Given the description of an element on the screen output the (x, y) to click on. 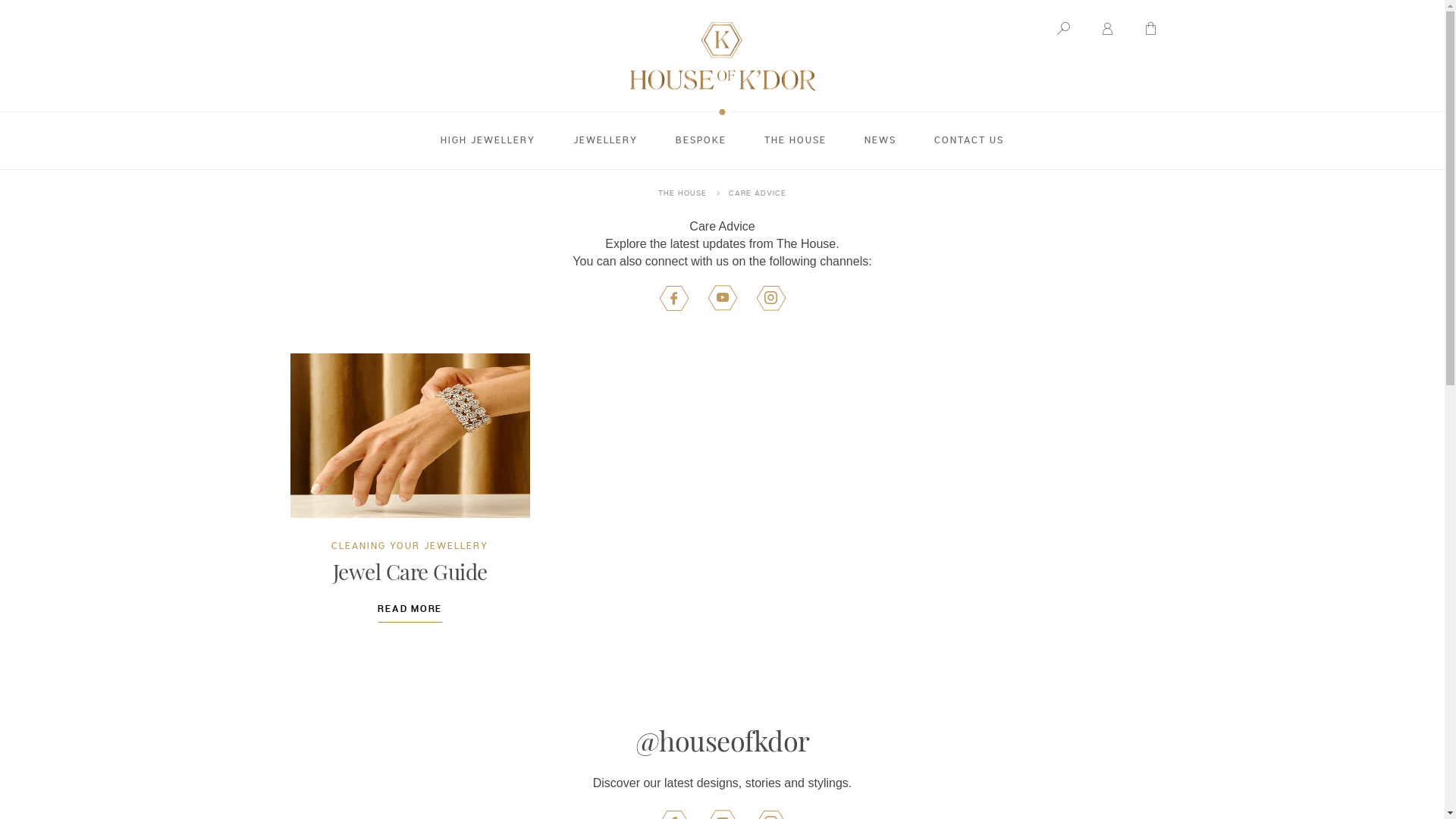
THE HOUSE Element type: text (795, 140)
CONTACT US Element type: text (969, 140)
JEWELLERY Element type: text (605, 140)
CARE ADVICE Element type: text (757, 192)
READ MORE Element type: text (409, 612)
NEWS Element type: text (880, 140)
THE HOUSE Element type: text (682, 192)
BESPOKE Element type: text (700, 140)
HIGH JEWELLERY Element type: text (487, 140)
